Given the description of an element on the screen output the (x, y) to click on. 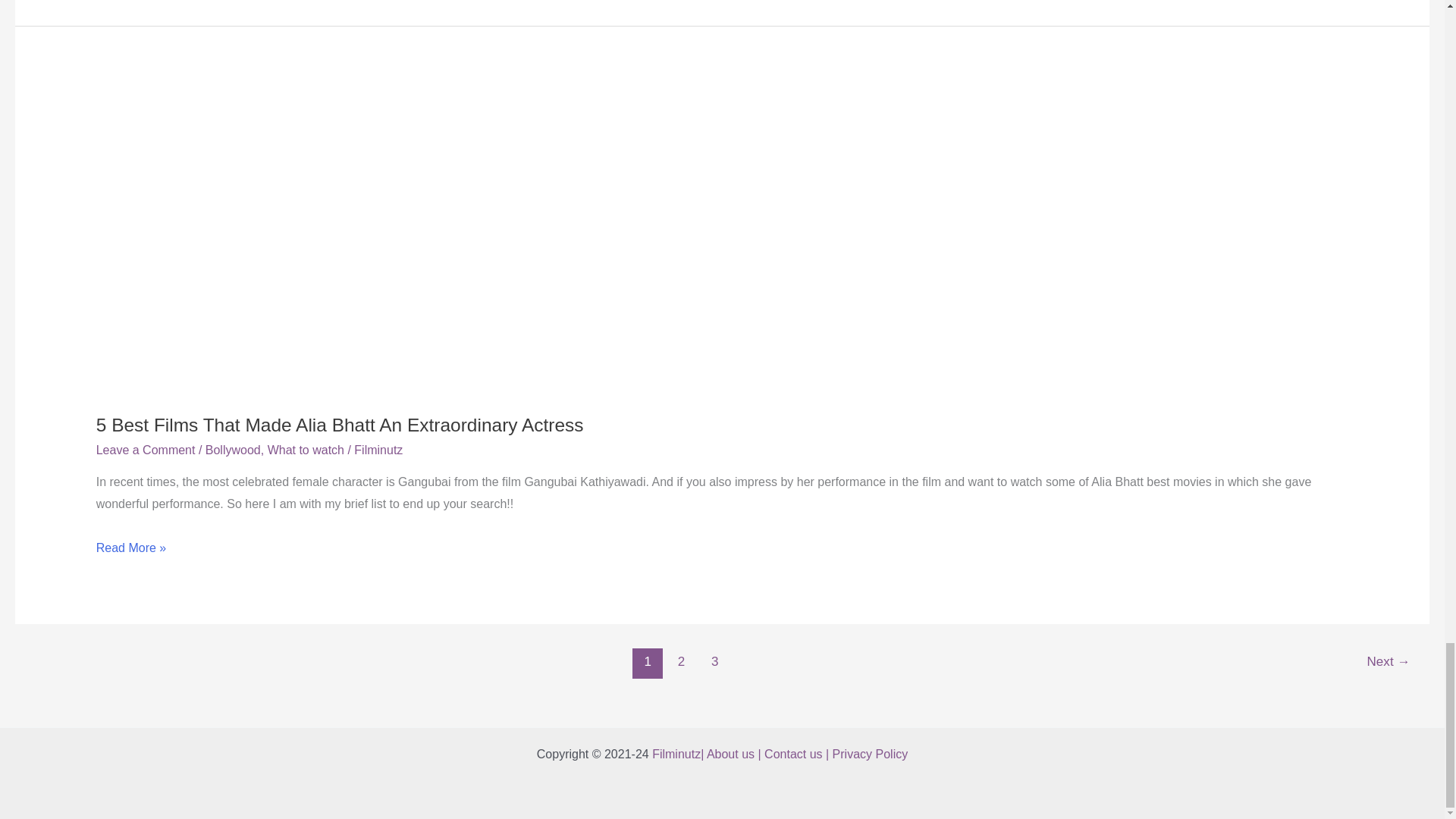
View all posts by Filminutz (378, 449)
